Given the description of an element on the screen output the (x, y) to click on. 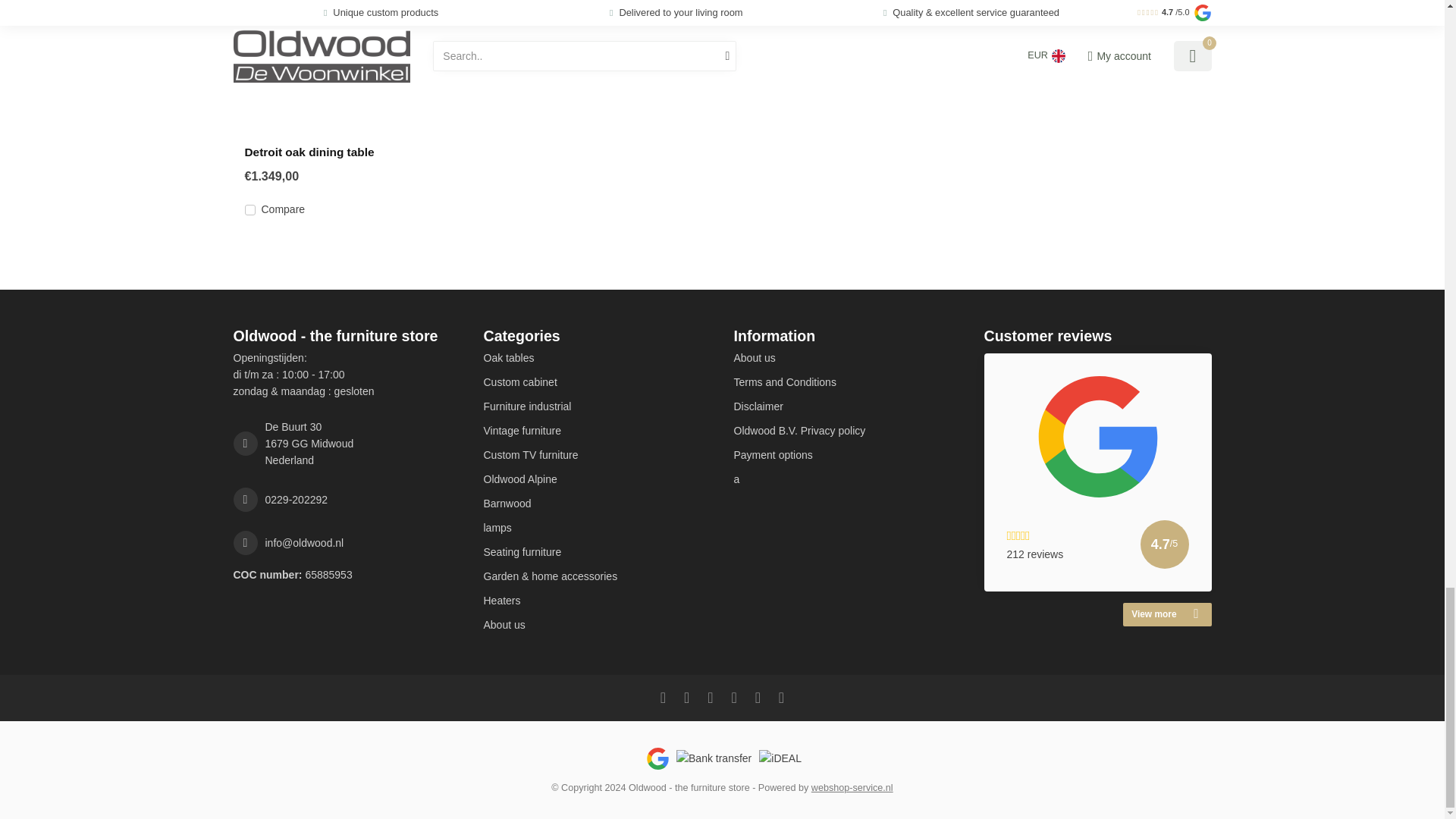
Oldwood Detroit oak dining table (346, 151)
About us (846, 357)
Disclaimer (846, 405)
Terms and Conditions (846, 381)
Oldwood B.V. Privacy policy (846, 430)
Oldwood Detroit oak dining table (346, 67)
